Given the description of an element on the screen output the (x, y) to click on. 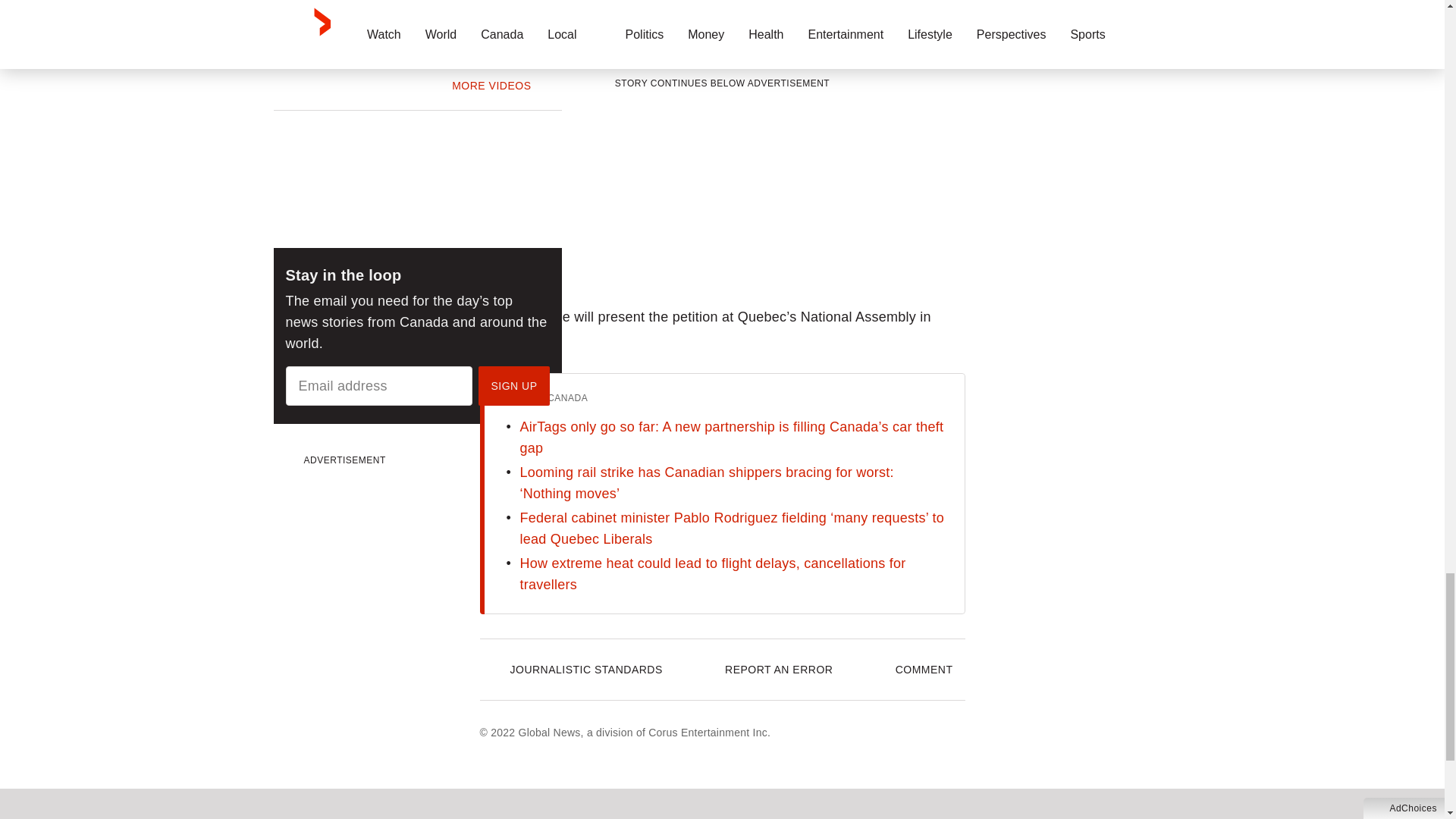
New programs using tracking devices to fight auto theft (480, 12)
